Given the description of an element on the screen output the (x, y) to click on. 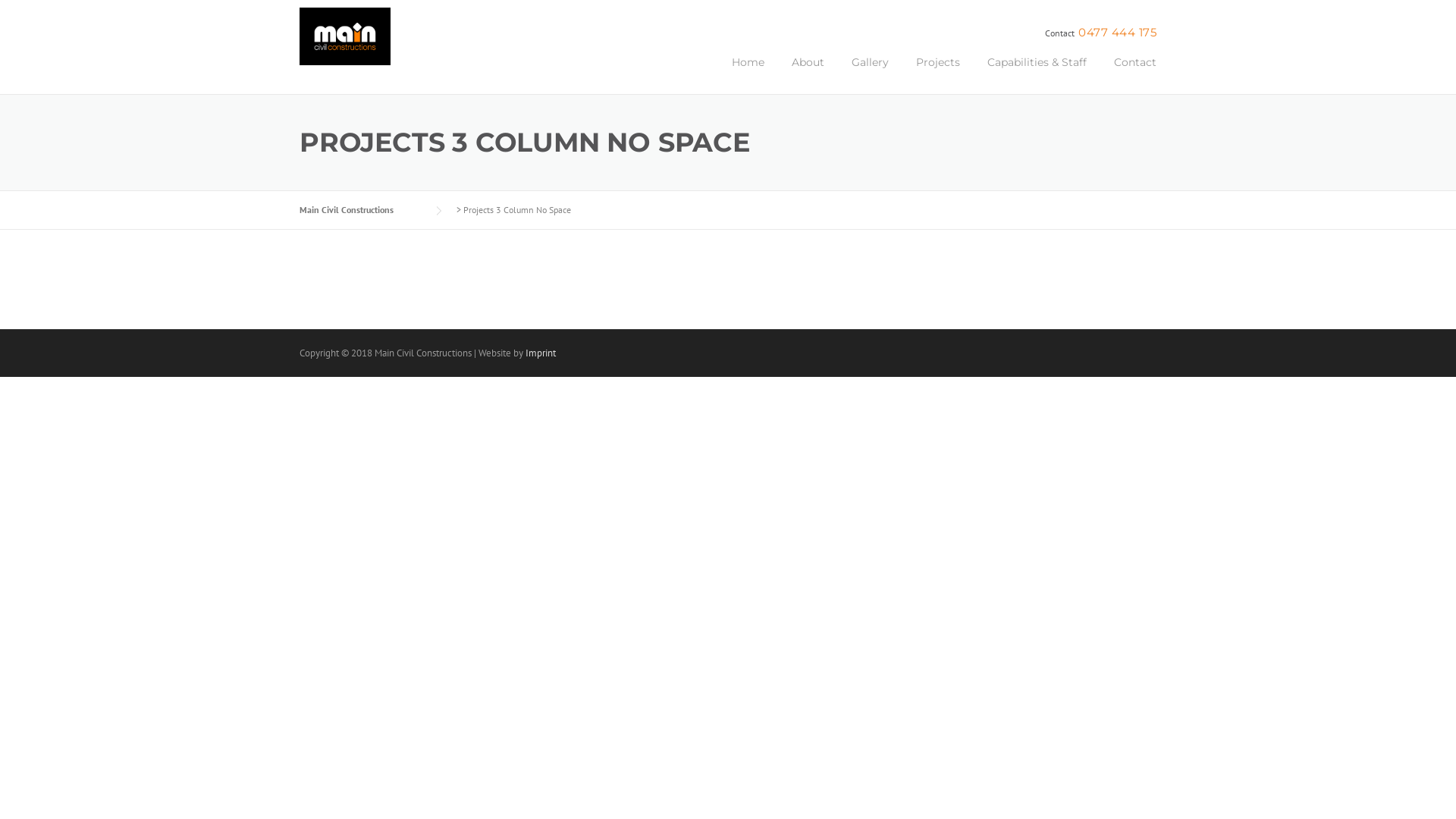
Contact Element type: text (1128, 73)
Main Civil Constructions Element type: text (361, 209)
Capabilities & Staff Element type: text (1036, 73)
Main Civil Constructions Element type: hover (344, 43)
Projects Element type: text (937, 73)
Imprint Element type: text (540, 352)
Home Element type: text (748, 73)
Gallery Element type: text (869, 73)
About Element type: text (807, 73)
